Given the description of an element on the screen output the (x, y) to click on. 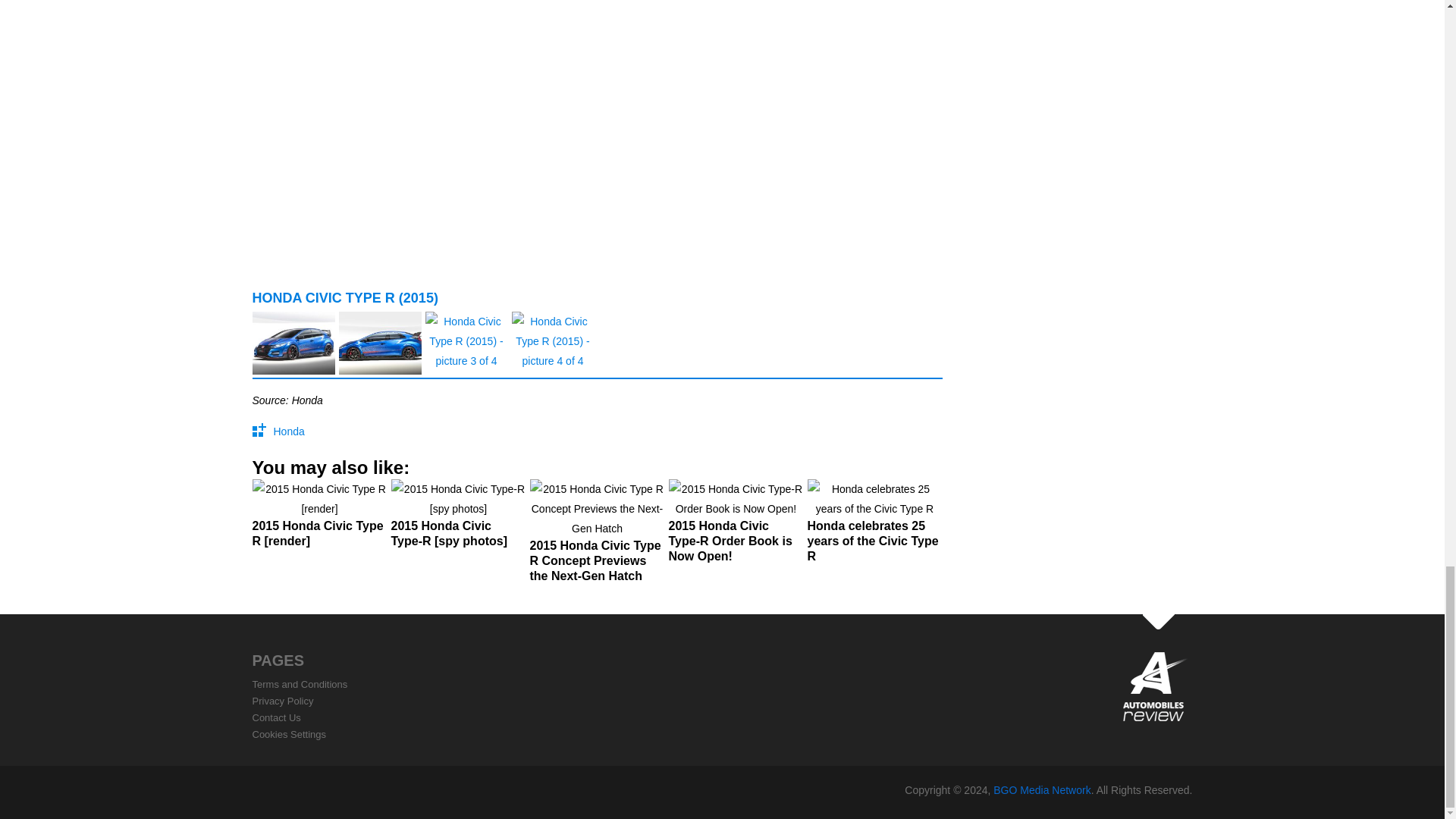
Terms and Conditions (299, 684)
2015 Honda Civic Type-R Order Book is Now Open! (735, 527)
Privacy Policy (282, 700)
Privacy Policy (282, 700)
Terms and Conditions (299, 684)
Honda (288, 431)
Contact Us (275, 717)
Contact Us (275, 717)
Honda celebrates 25 years of the Civic Type R (874, 527)
2015 Honda Civic Type R Concept Previews the Next-Gen Hatch (596, 537)
